Given the description of an element on the screen output the (x, y) to click on. 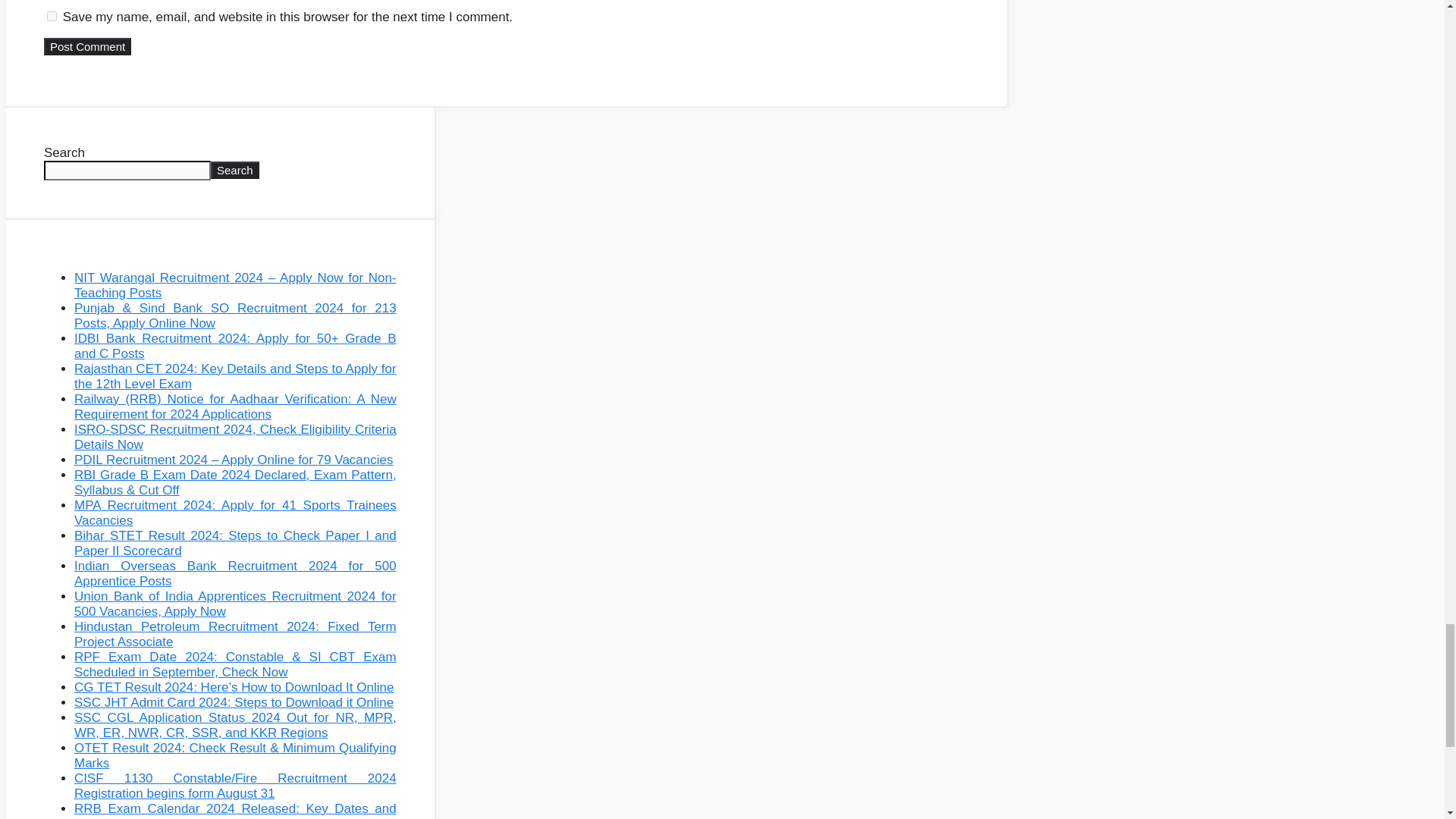
Post Comment (87, 46)
Search (235, 170)
Post Comment (87, 46)
MPA Recruitment 2024: Apply for 41 Sports Trainees Vacancies (235, 512)
yes (51, 16)
